Given the description of an element on the screen output the (x, y) to click on. 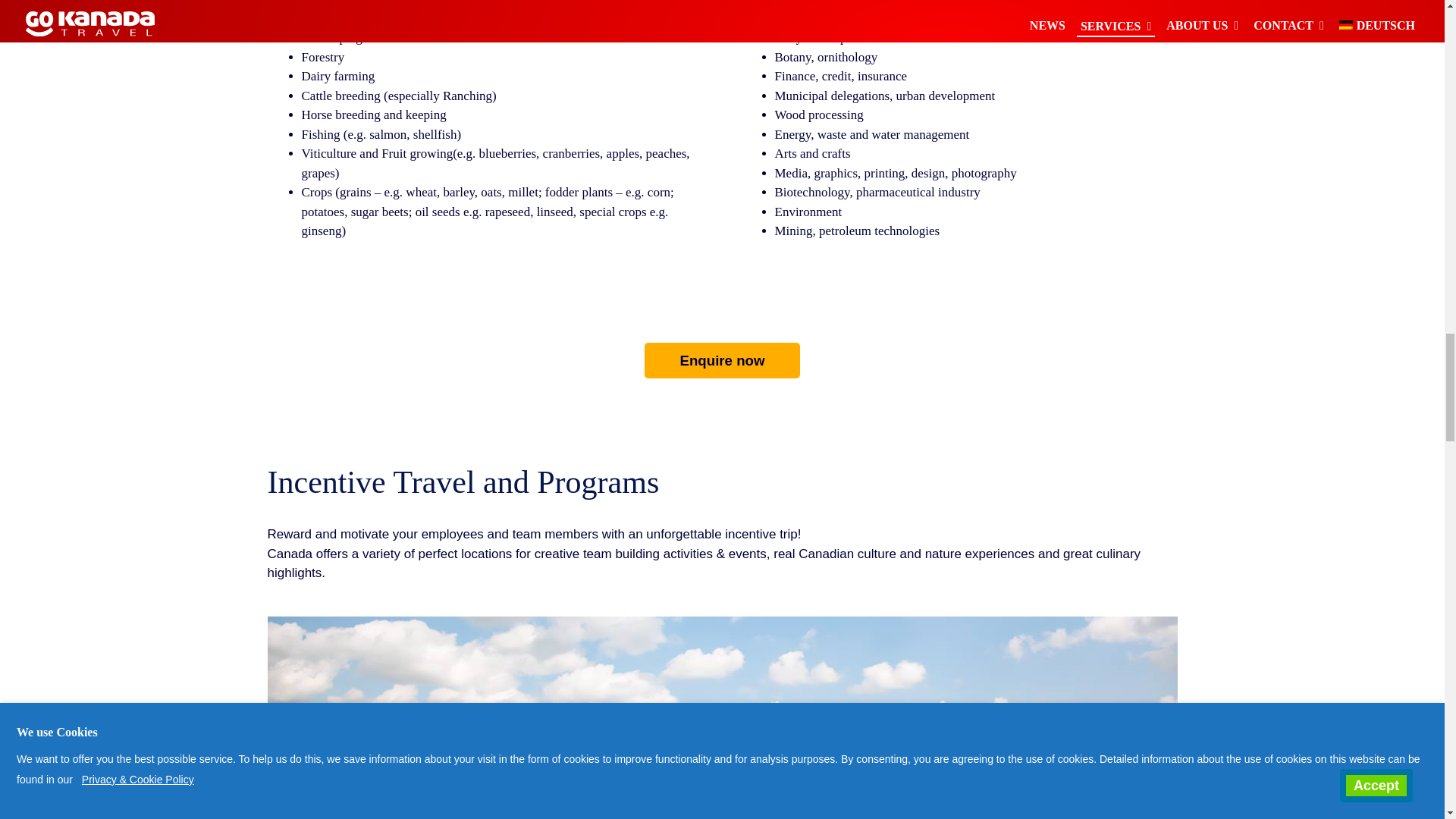
Enquire now (722, 360)
